Given the description of an element on the screen output the (x, y) to click on. 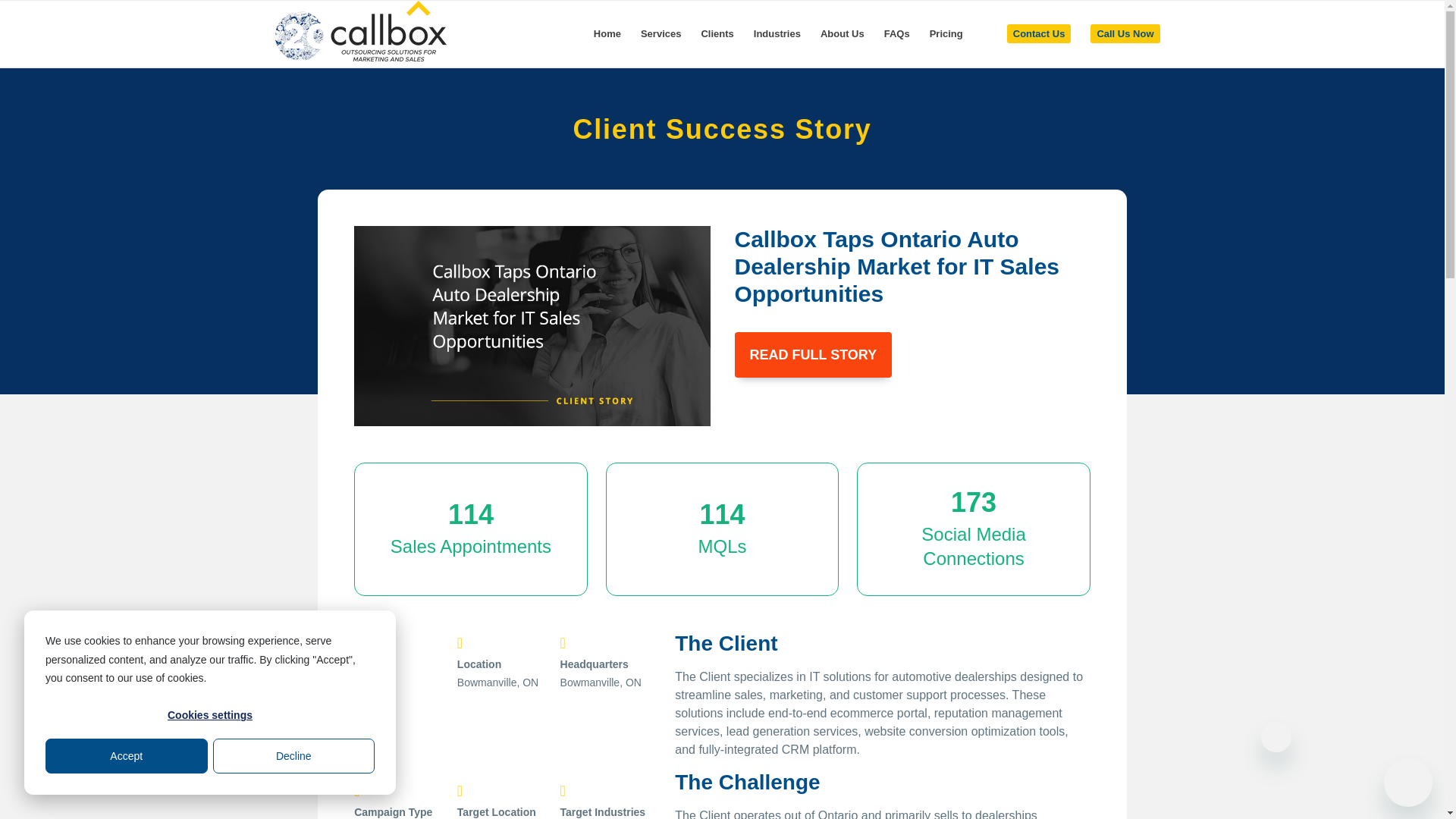
Industries (777, 33)
About Us (842, 33)
Callbox - B2B Lead Generation Services (360, 33)
Callbox - B2B Lead Generation Services (360, 30)
Services (660, 33)
